Given the description of an element on the screen output the (x, y) to click on. 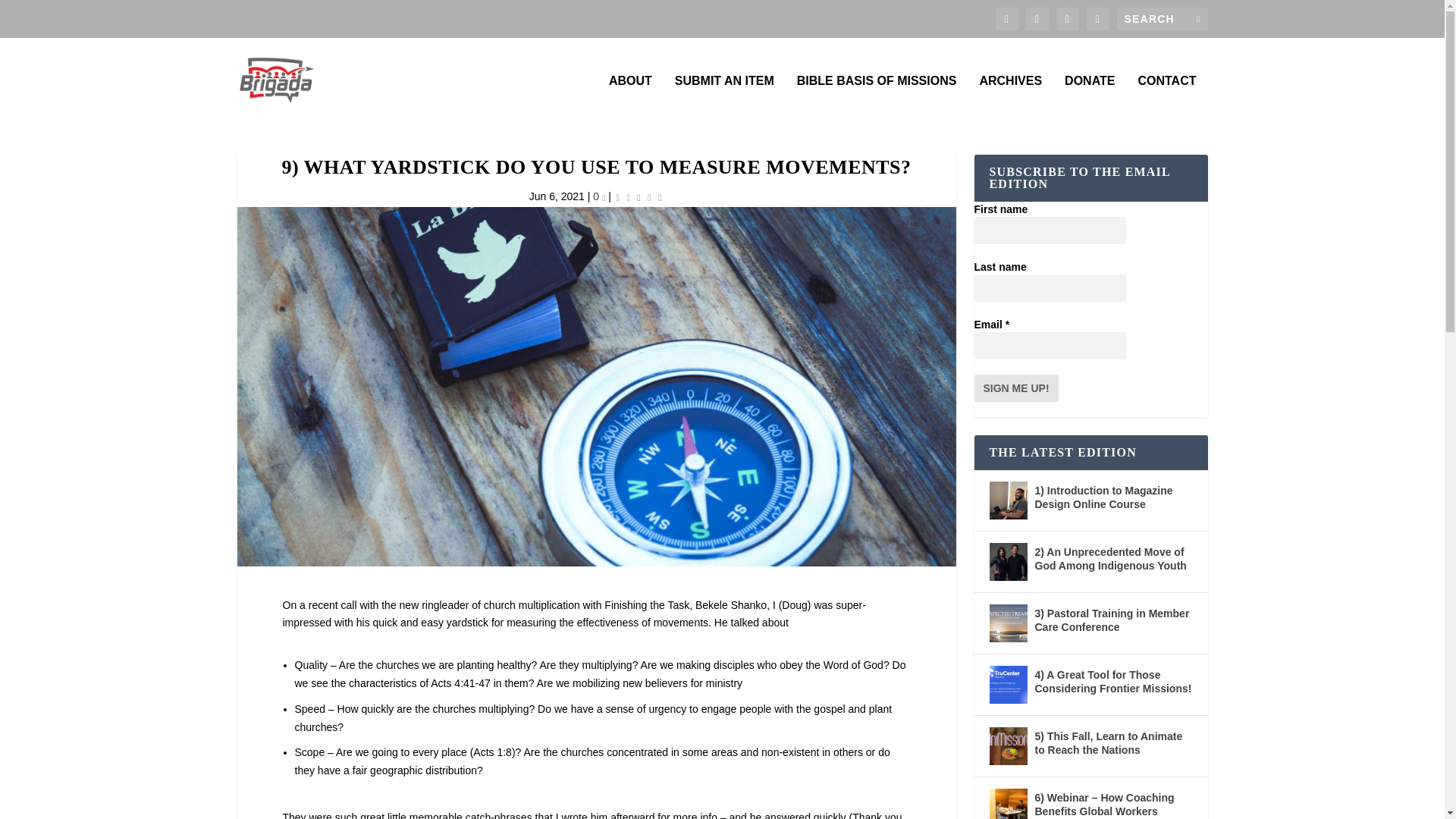
ARCHIVES (1010, 99)
Search for: (1161, 18)
Last name (1049, 288)
SUBMIT AN ITEM (724, 99)
Sign me up! (1016, 388)
DONATE (1089, 99)
Sign me up! (1016, 388)
Email (1049, 345)
0 (598, 196)
BIBLE BASIS OF MISSIONS (876, 99)
CONTACT (1166, 99)
First name (1049, 230)
Rating: 0.00 (638, 197)
